Given the description of an element on the screen output the (x, y) to click on. 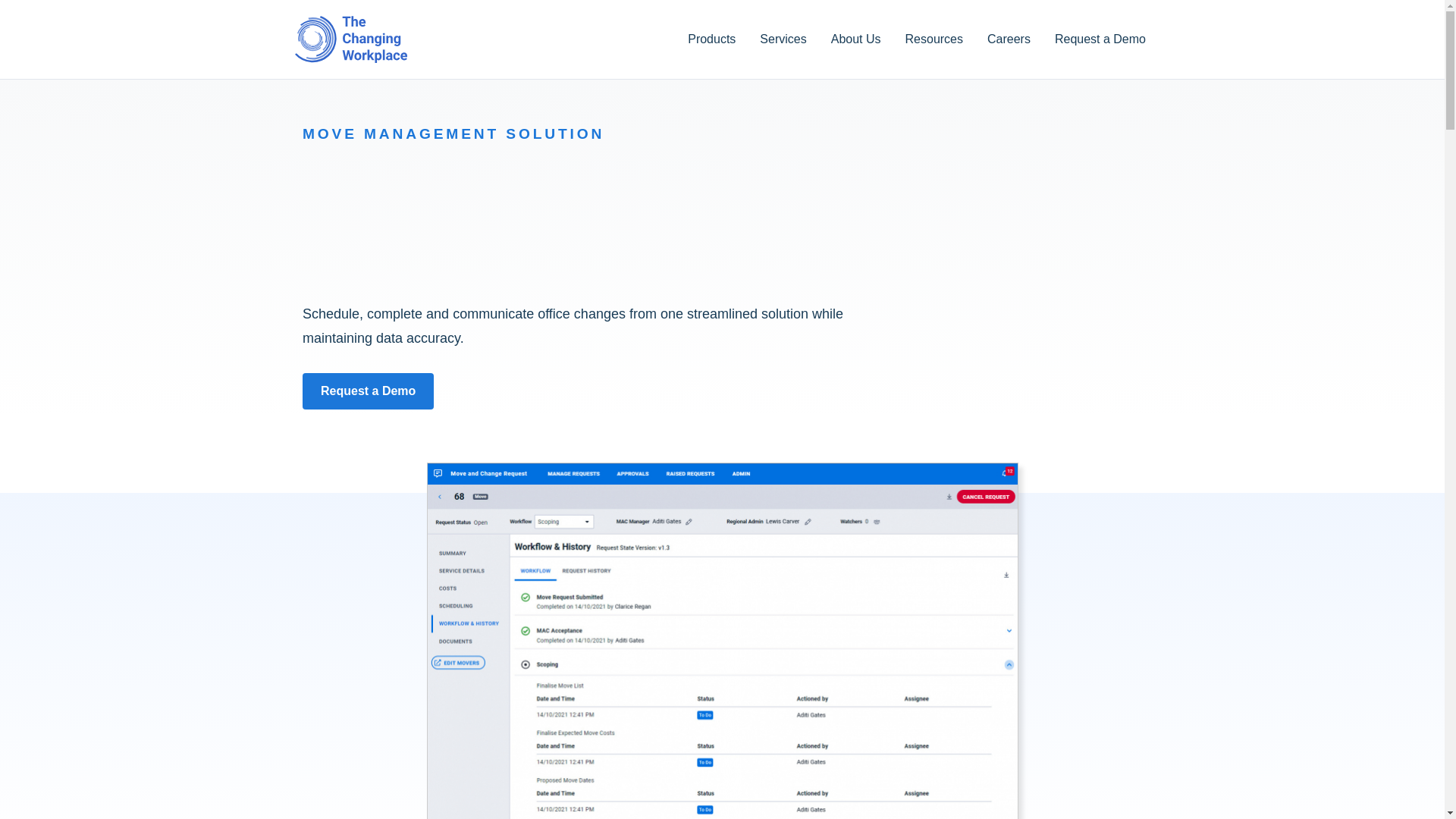
About Us (855, 39)
Careers (1008, 39)
Products (711, 39)
Request a Demo (367, 391)
Services (783, 39)
Resources (933, 39)
Request a Demo (1099, 39)
